Given the description of an element on the screen output the (x, y) to click on. 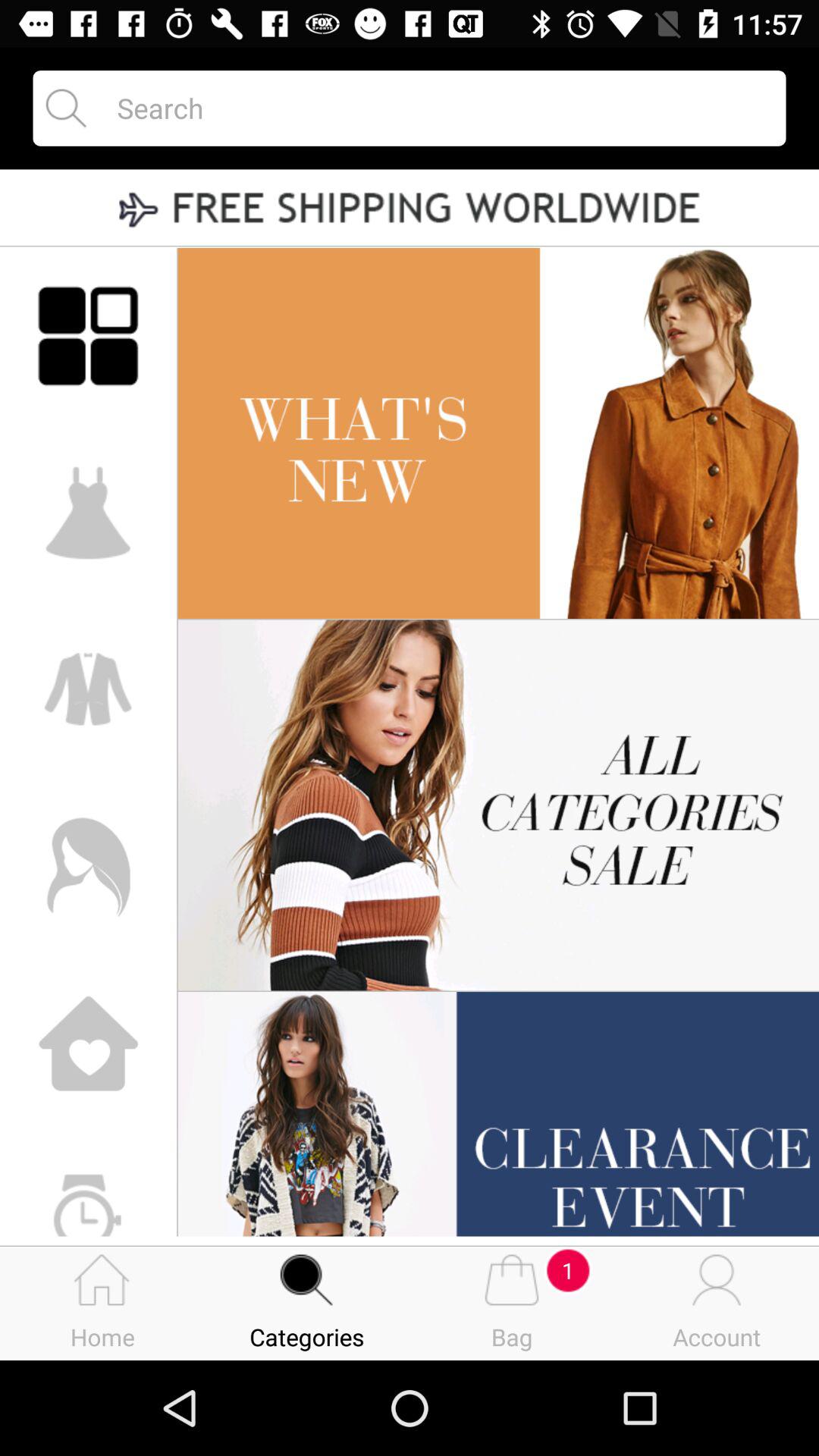
free shipping worldwide link (409, 209)
